Given the description of an element on the screen output the (x, y) to click on. 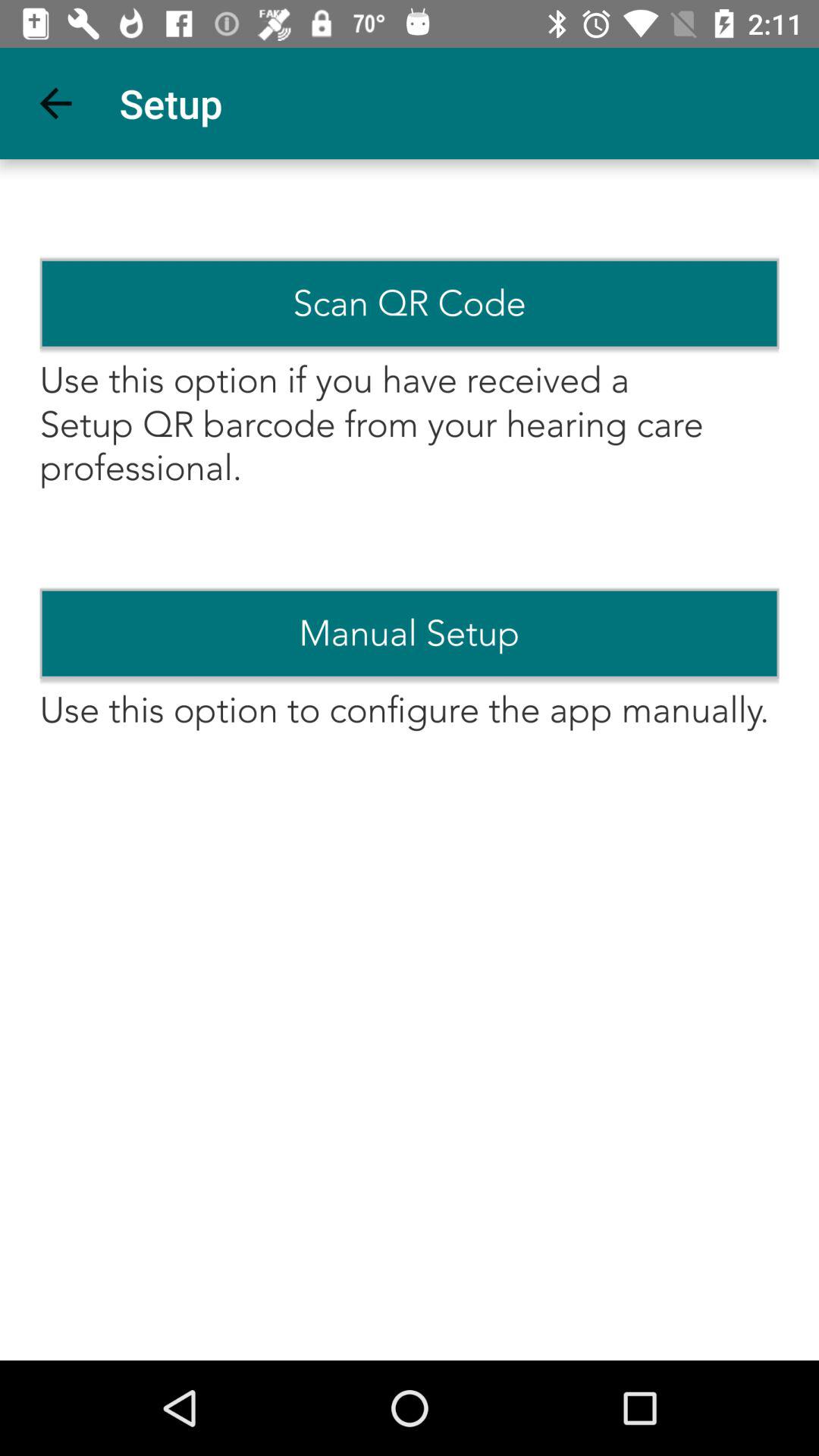
press the icon to the left of setup app (55, 103)
